Given the description of an element on the screen output the (x, y) to click on. 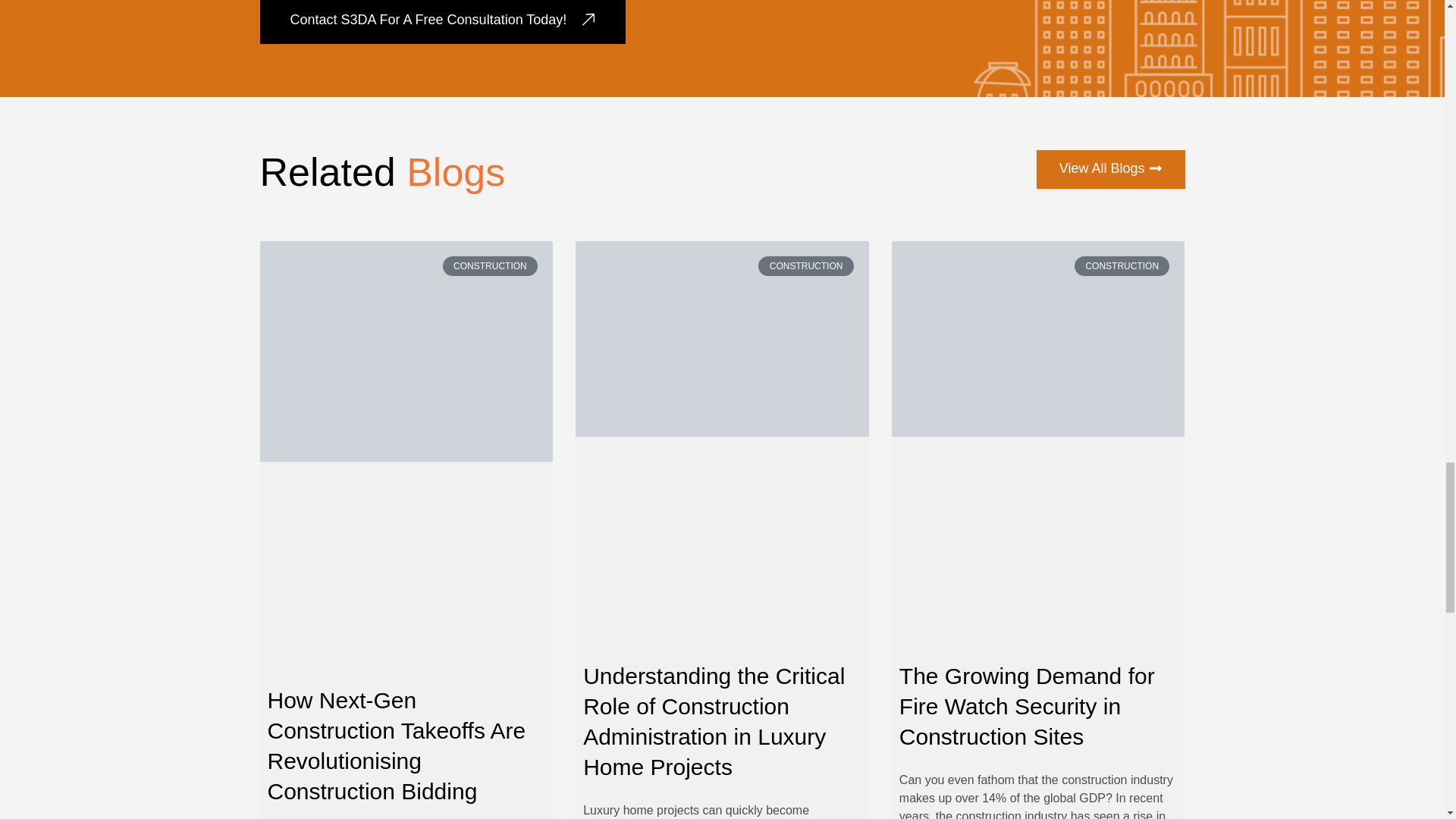
Contact S3DA For A Free Consultation Today! (442, 22)
View All Blogs (1110, 169)
